Given the description of an element on the screen output the (x, y) to click on. 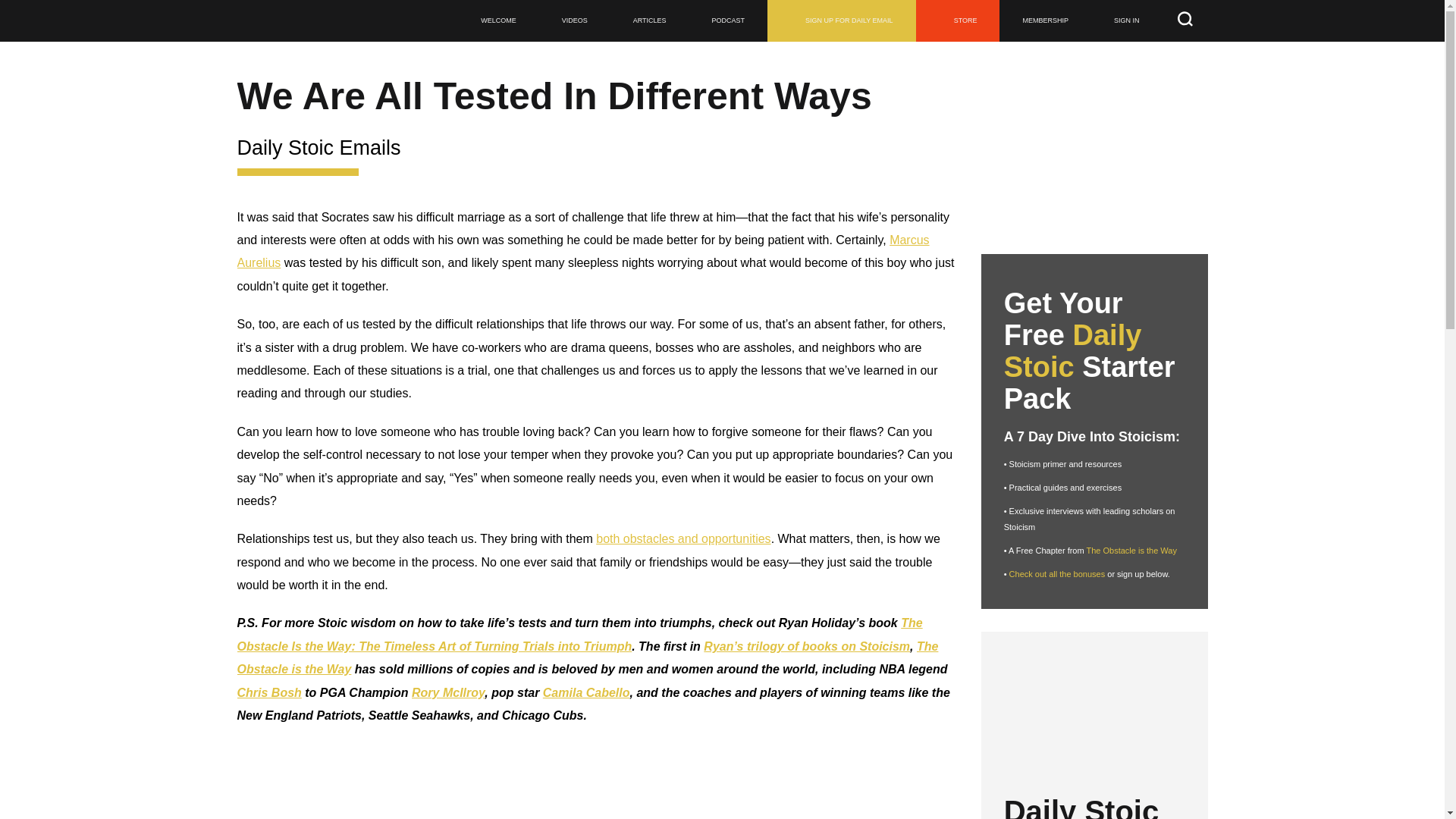
MEMBERSHIP (1044, 20)
SIGN IN (1125, 20)
WELCOME (498, 20)
ARTICLES (649, 20)
Search (17, 7)
Check out all the bonuses (1057, 573)
STORE (957, 20)
Chris Bosh (268, 692)
Rory McIlroy (448, 692)
Camila Cabello (586, 692)
VIDEOS (574, 20)
both obstacles and opportunities (682, 538)
Marcus Aurelius (581, 251)
The Obstacle is the Way (586, 657)
